Given the description of an element on the screen output the (x, y) to click on. 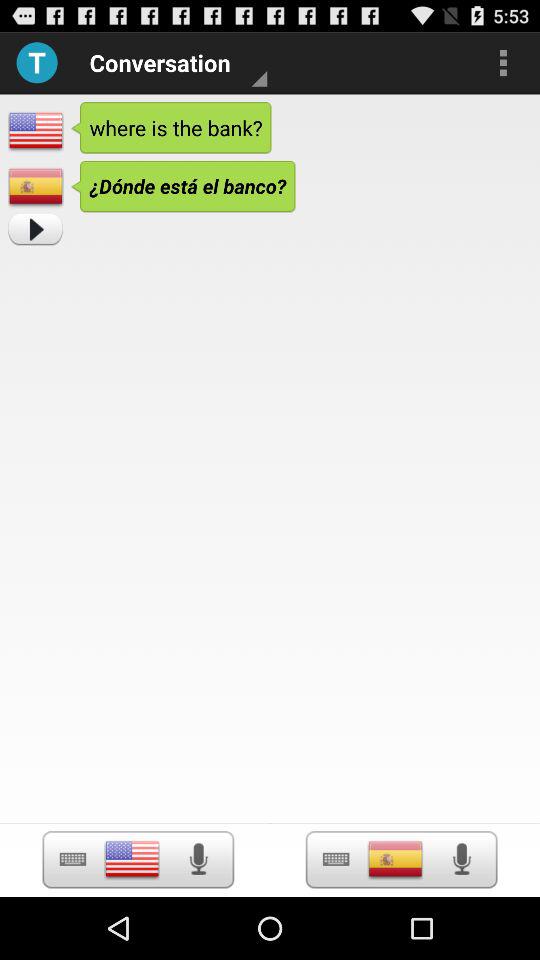
selects spanish language option (335, 859)
